Given the description of an element on the screen output the (x, y) to click on. 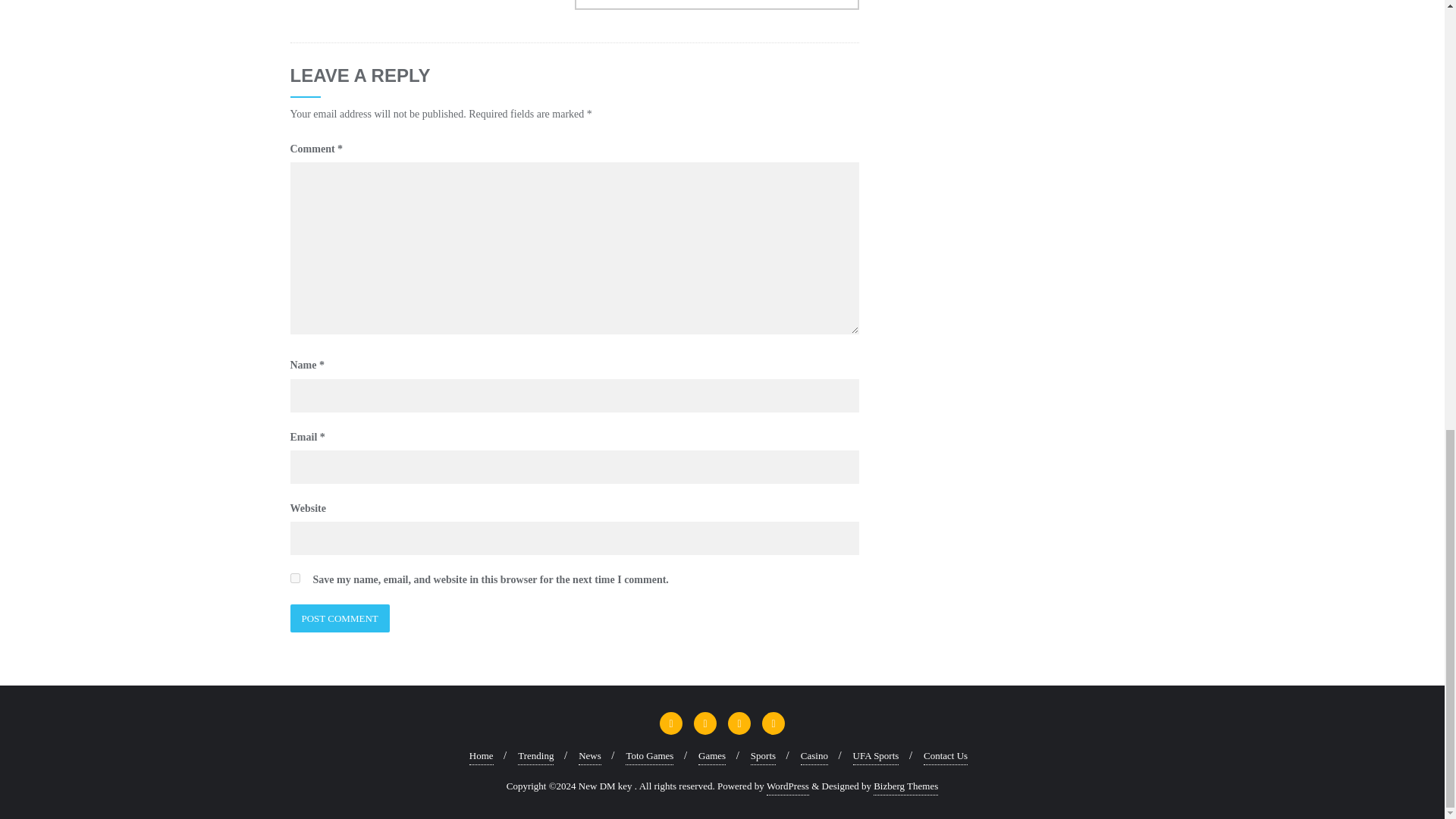
yes (294, 578)
Post Comment (338, 618)
